Given the description of an element on the screen output the (x, y) to click on. 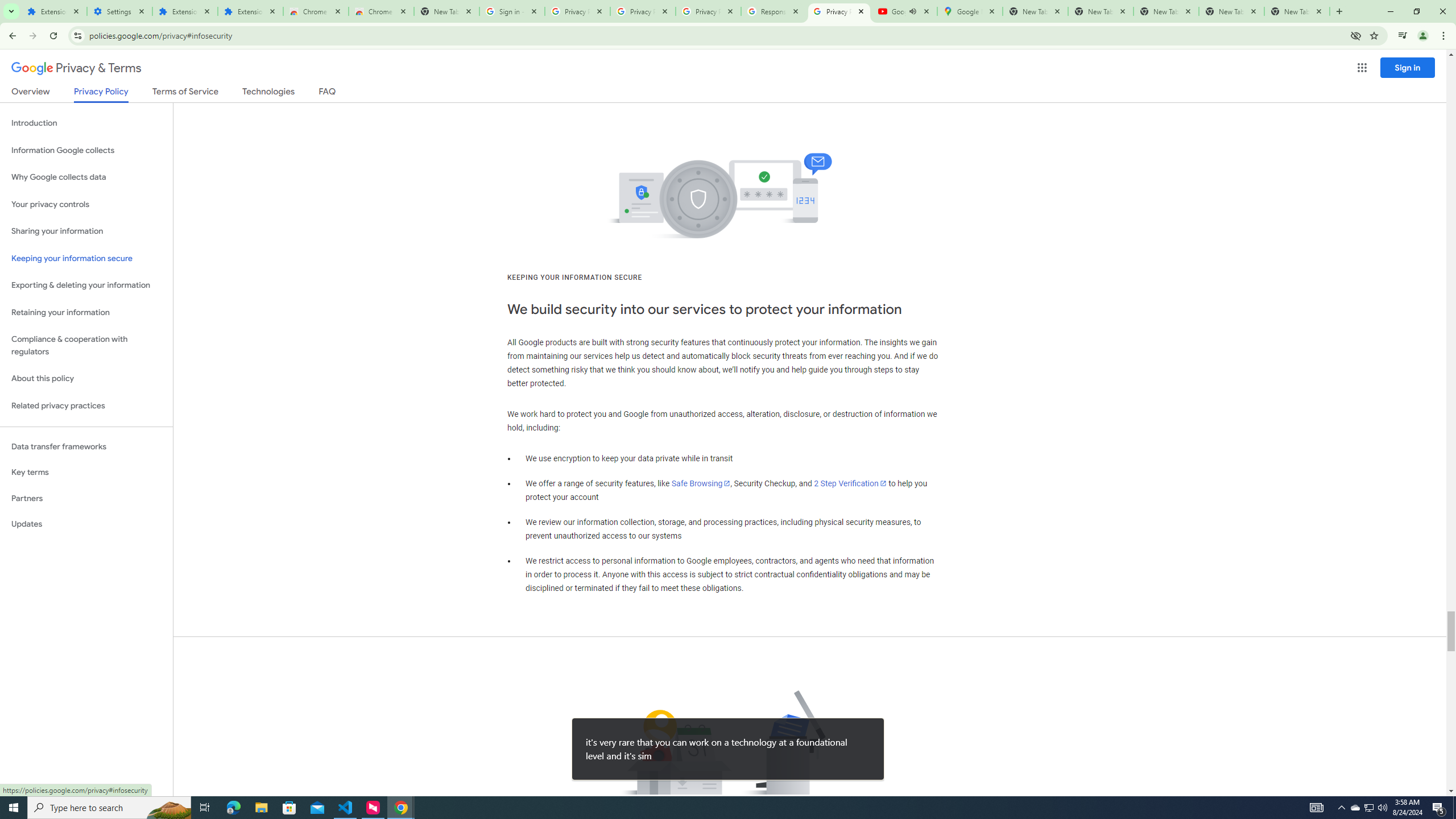
Partners (86, 497)
New Tab (1297, 11)
Retaining your information (86, 312)
Safe Browsing (700, 483)
Extensions (53, 11)
